Given the description of an element on the screen output the (x, y) to click on. 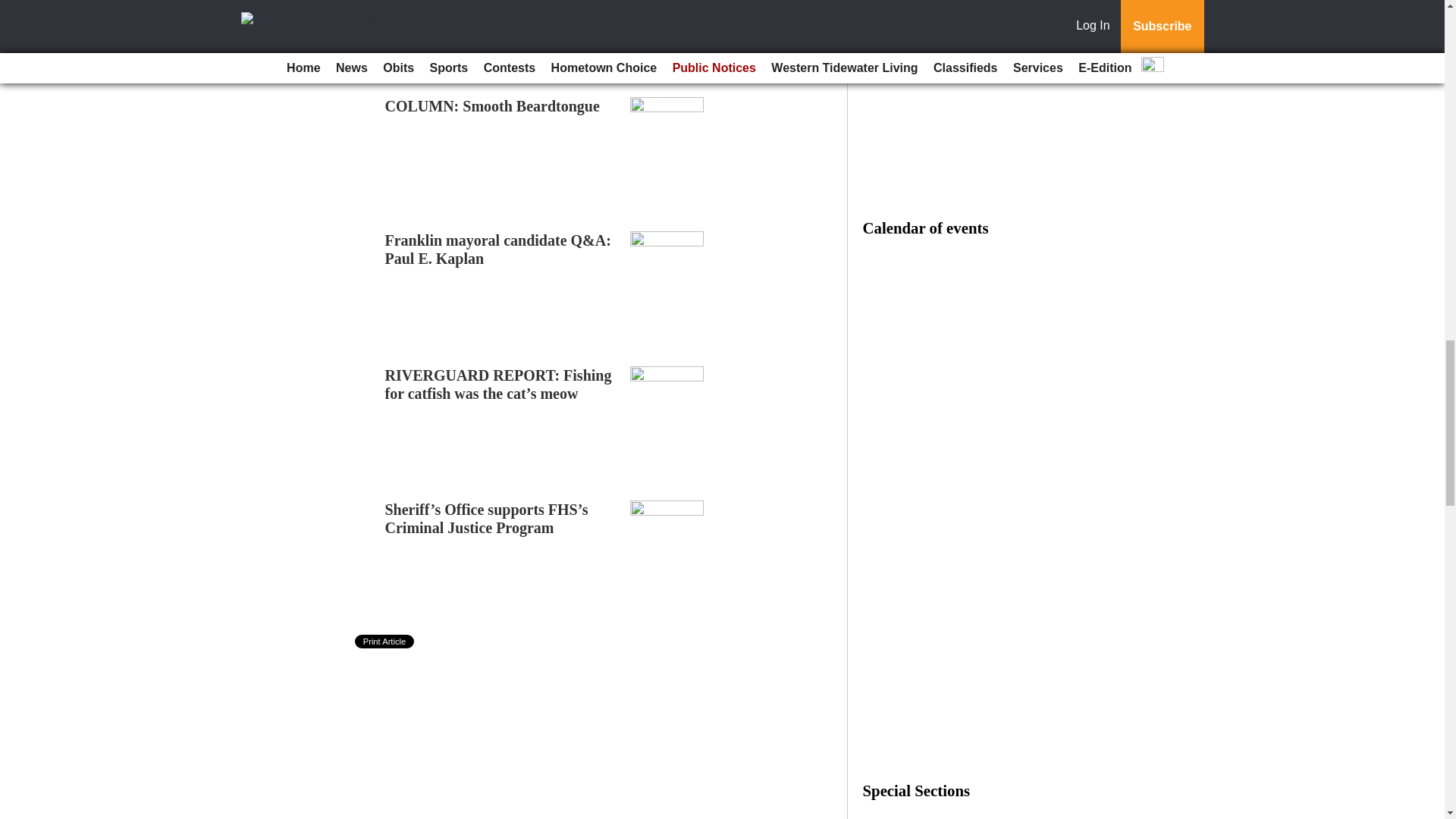
COLUMN: Smooth Beardtongue (492, 105)
COLUMN: Smooth Beardtongue (492, 105)
